Given the description of an element on the screen output the (x, y) to click on. 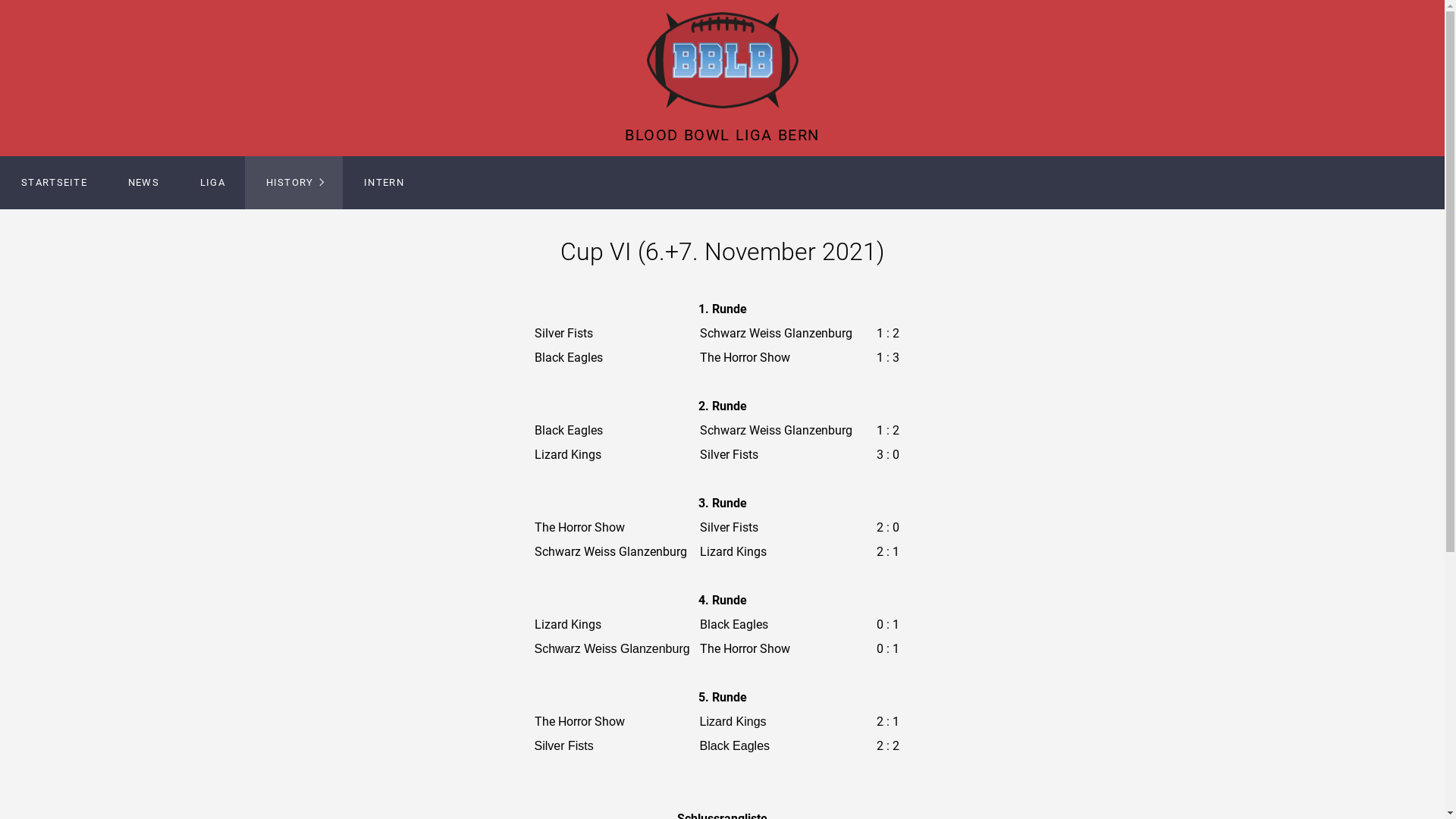
INTERN Element type: text (383, 182)
HISTORY Element type: text (293, 182)
STARTSEITE Element type: text (53, 182)
LIGA Element type: text (211, 182)
NEWS Element type: text (142, 182)
BLOOD BOWL LIGA BERN Element type: text (721, 134)
